Given the description of an element on the screen output the (x, y) to click on. 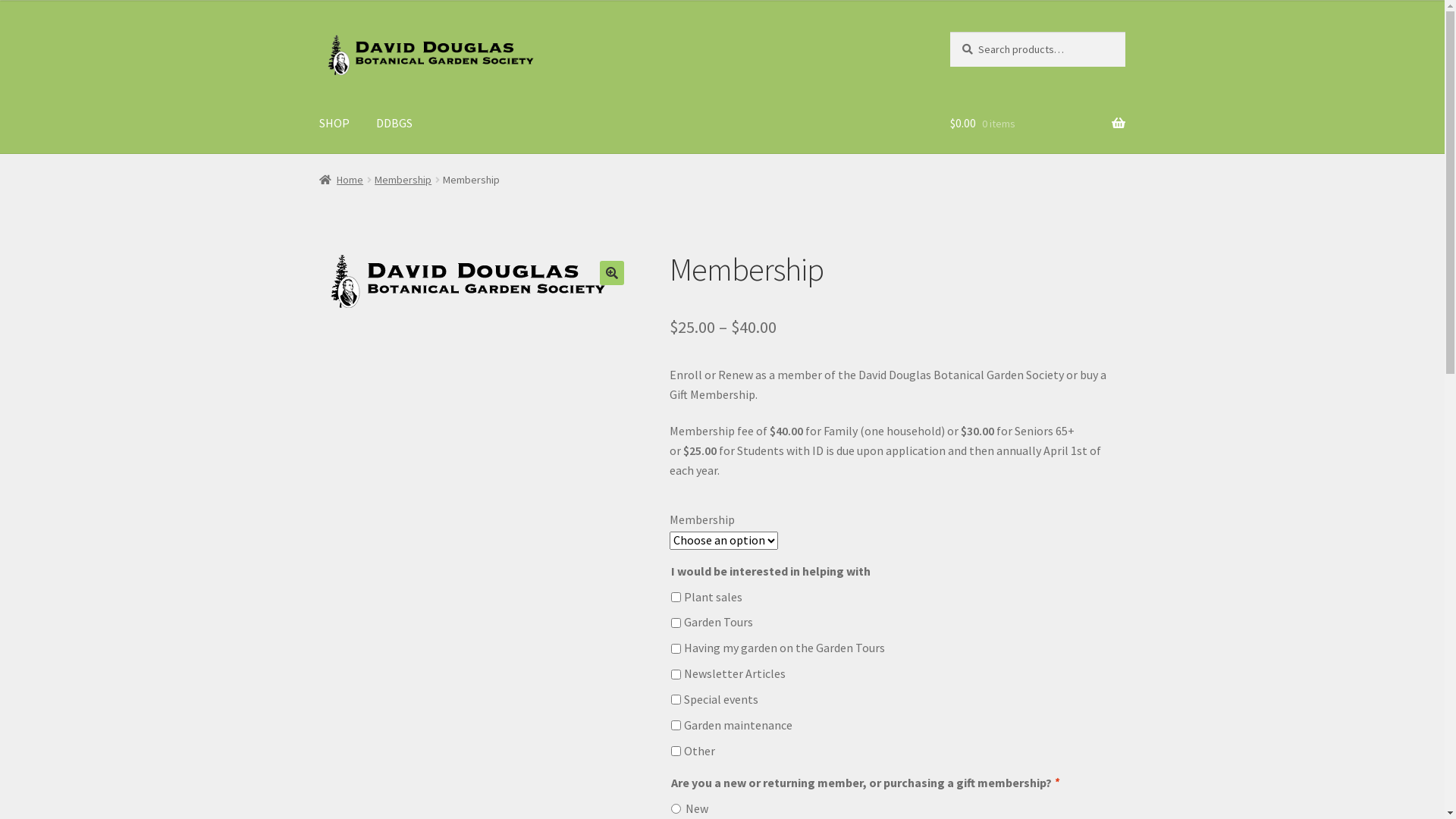
DDBGS Element type: text (394, 123)
logo-DDBGS-400x80-2 Element type: hover (470, 280)
Search Element type: text (949, 31)
$0.00 0 items Element type: text (1037, 123)
Skip to navigation Element type: text (318, 31)
Home Element type: text (341, 179)
Membership Element type: text (402, 179)
SHOP Element type: text (334, 123)
